Given the description of an element on the screen output the (x, y) to click on. 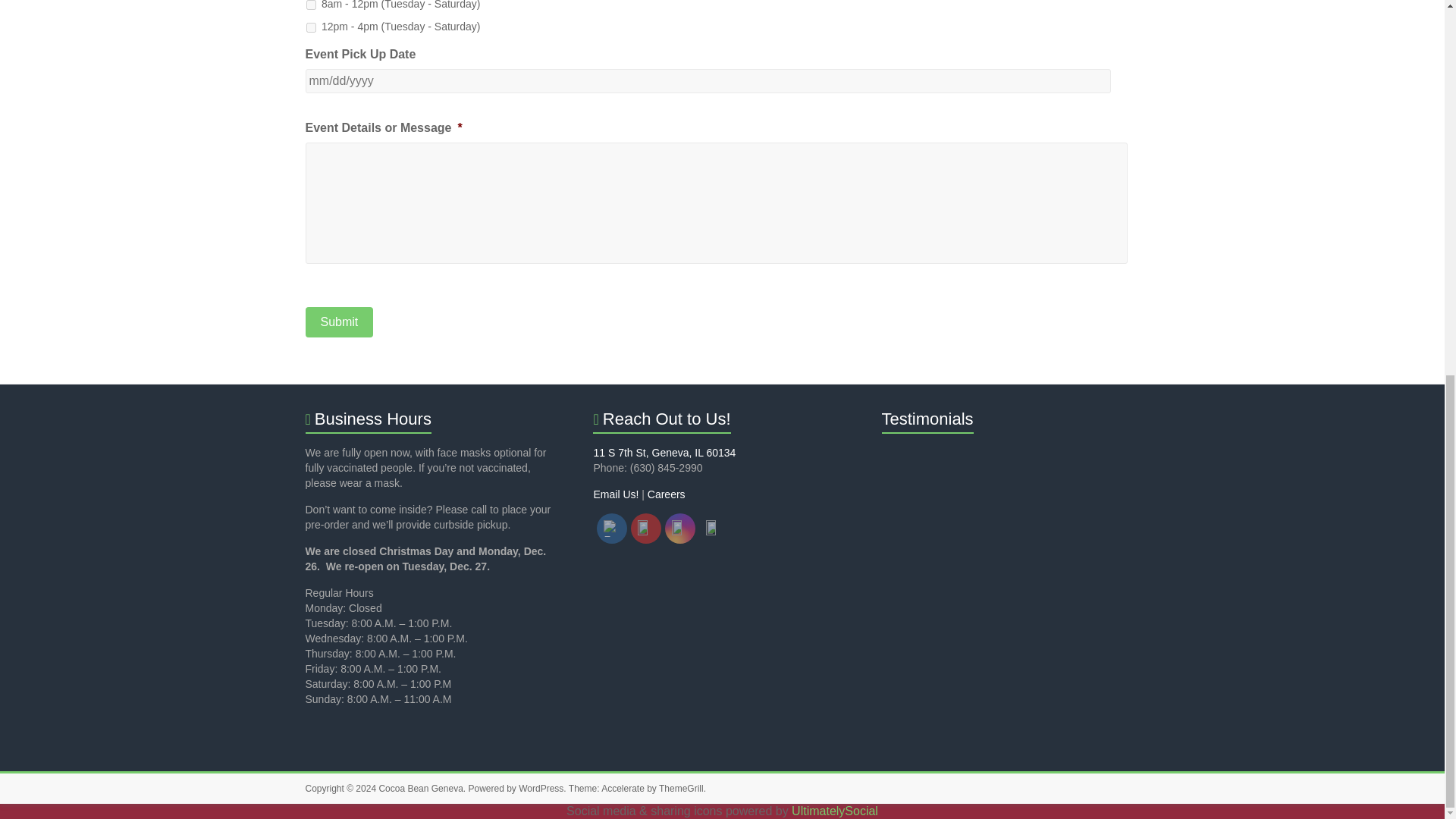
Careers (666, 494)
Cocoa Bean Geneva (420, 787)
WordPress (540, 787)
ThemeGrill (681, 787)
Facebook (612, 528)
11 S 7th St, Geneva, IL 60134 (663, 452)
Submit (338, 322)
Submit (338, 322)
Email Us! (615, 494)
